Given the description of an element on the screen output the (x, y) to click on. 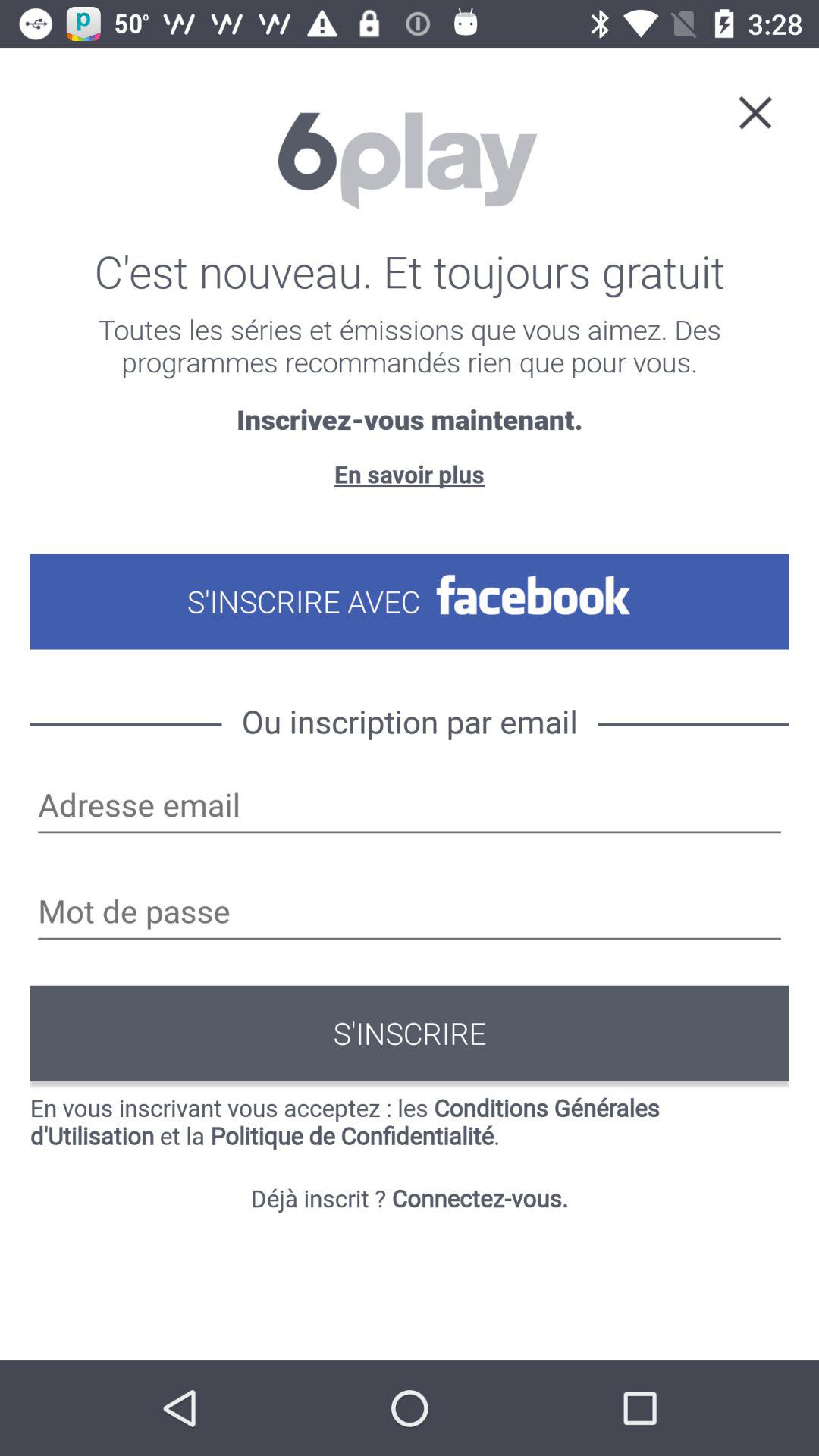
tap the item at the top right corner (754, 111)
